Given the description of an element on the screen output the (x, y) to click on. 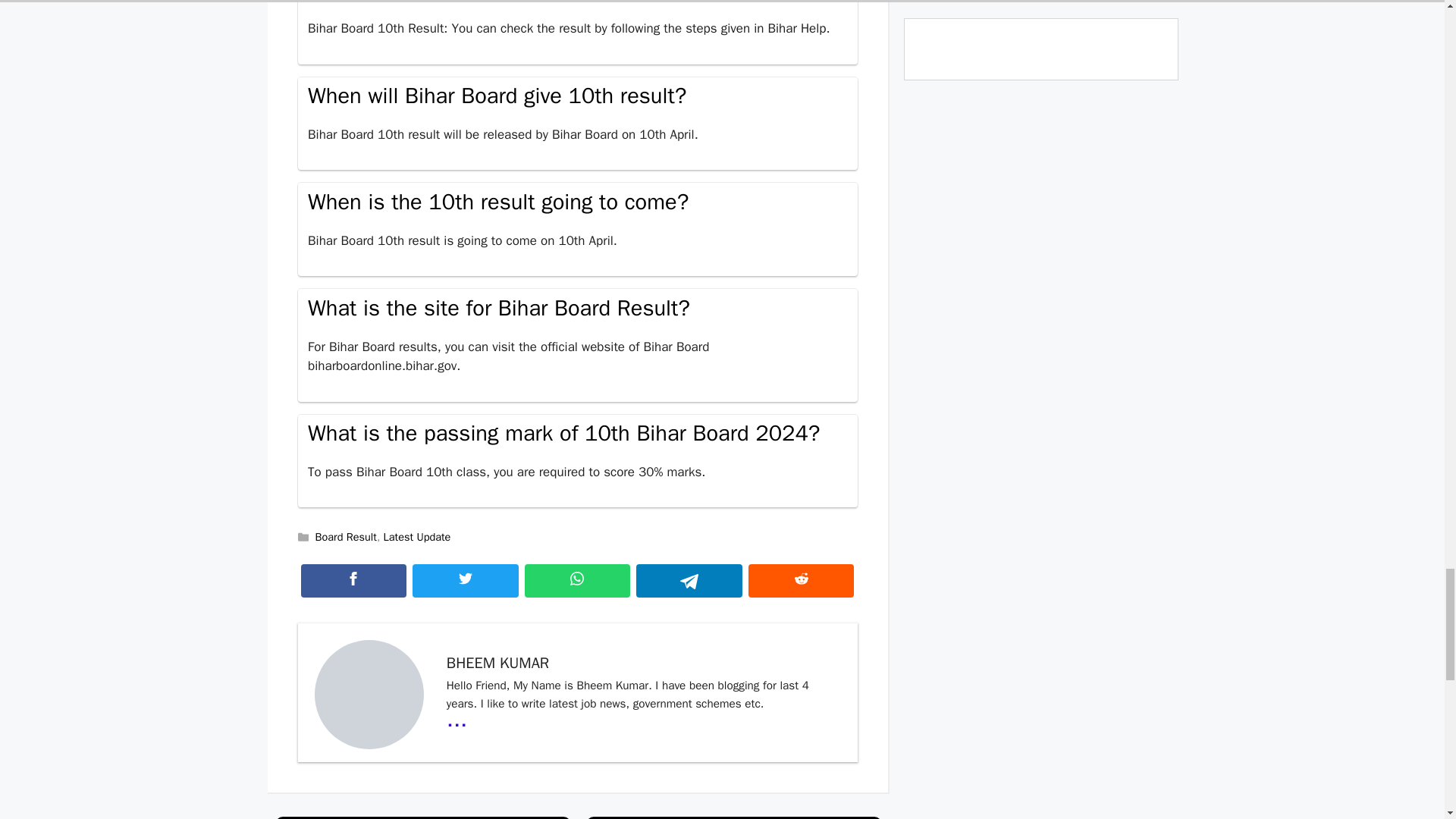
Board Result (346, 536)
Latest Update (417, 536)
